Given the description of an element on the screen output the (x, y) to click on. 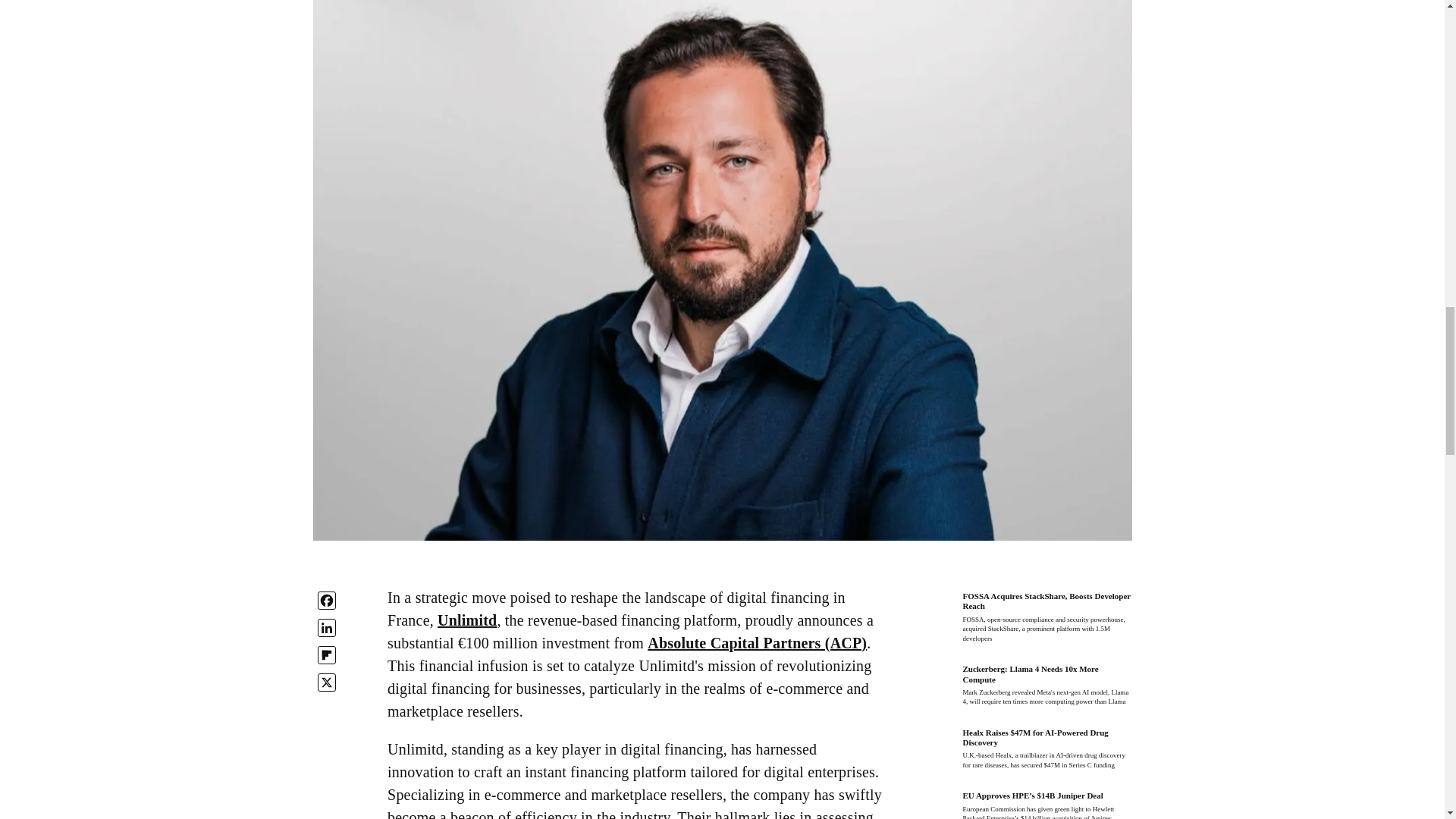
X (325, 682)
Facebook (325, 600)
Linkedin (325, 628)
Flipboard (325, 655)
